Given the description of an element on the screen output the (x, y) to click on. 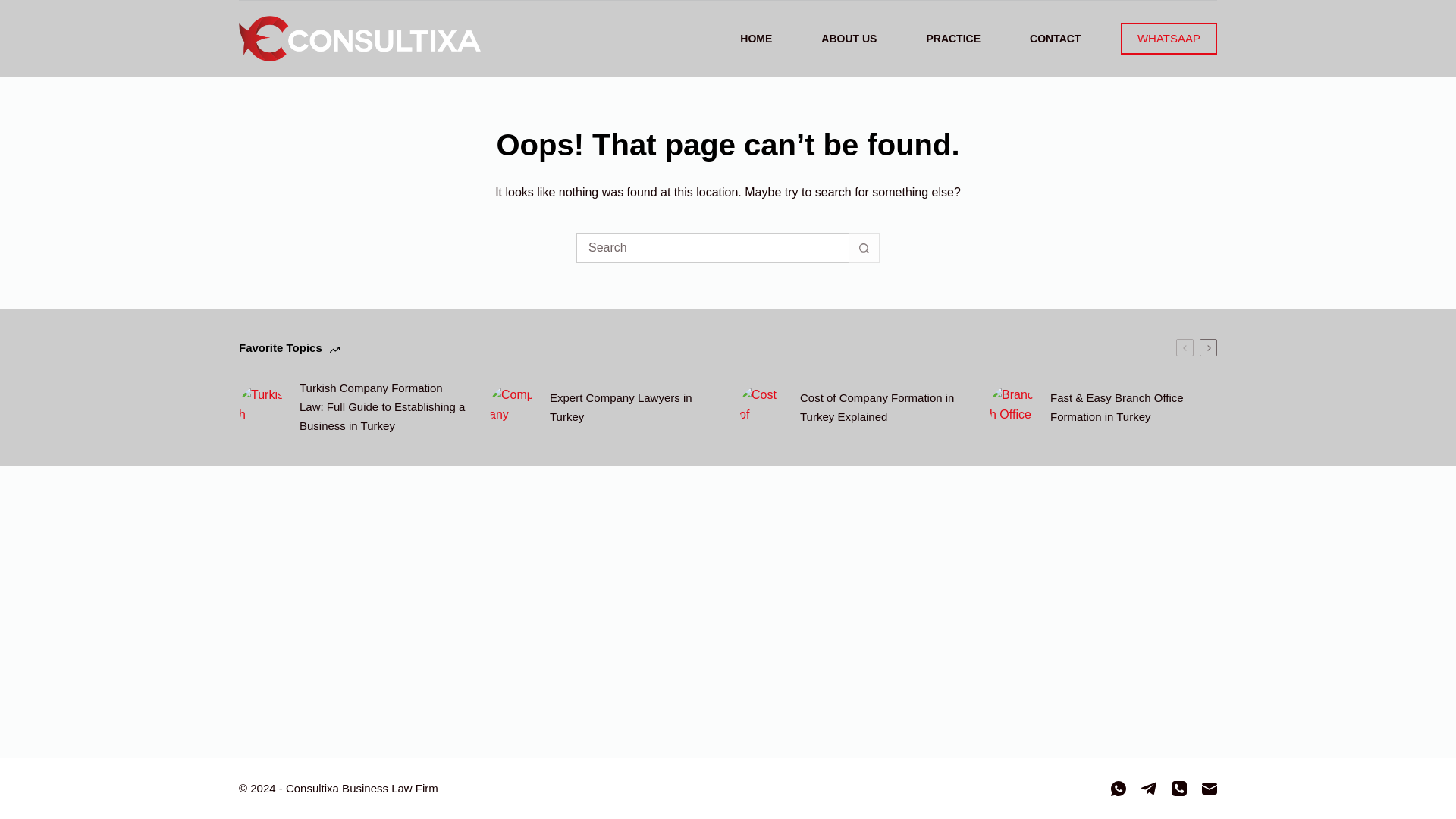
Cost of Company Formation in Turkey Explained (882, 407)
ABOUT US (848, 38)
PRACTICE (953, 38)
WHATSAAP (1169, 38)
HOME (756, 38)
Skip to content (15, 7)
Expert Company Lawyers in Turkey (633, 407)
Search for... (712, 247)
CONTACT (1055, 38)
